Given the description of an element on the screen output the (x, y) to click on. 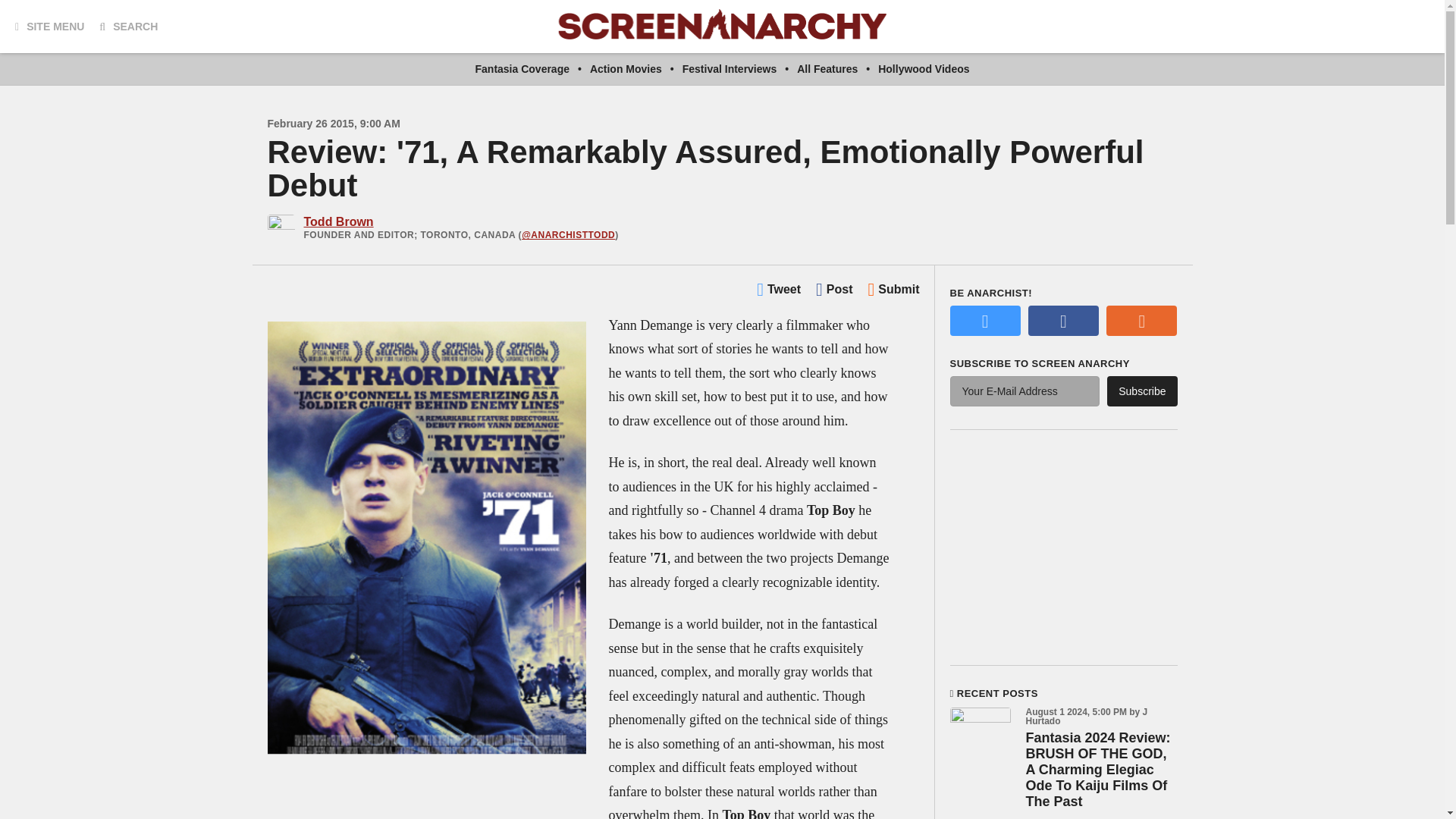
SITE MENU (49, 26)
Fantasia Coverage (521, 69)
SEARCH (128, 26)
Subscribe (1141, 390)
